Given the description of an element on the screen output the (x, y) to click on. 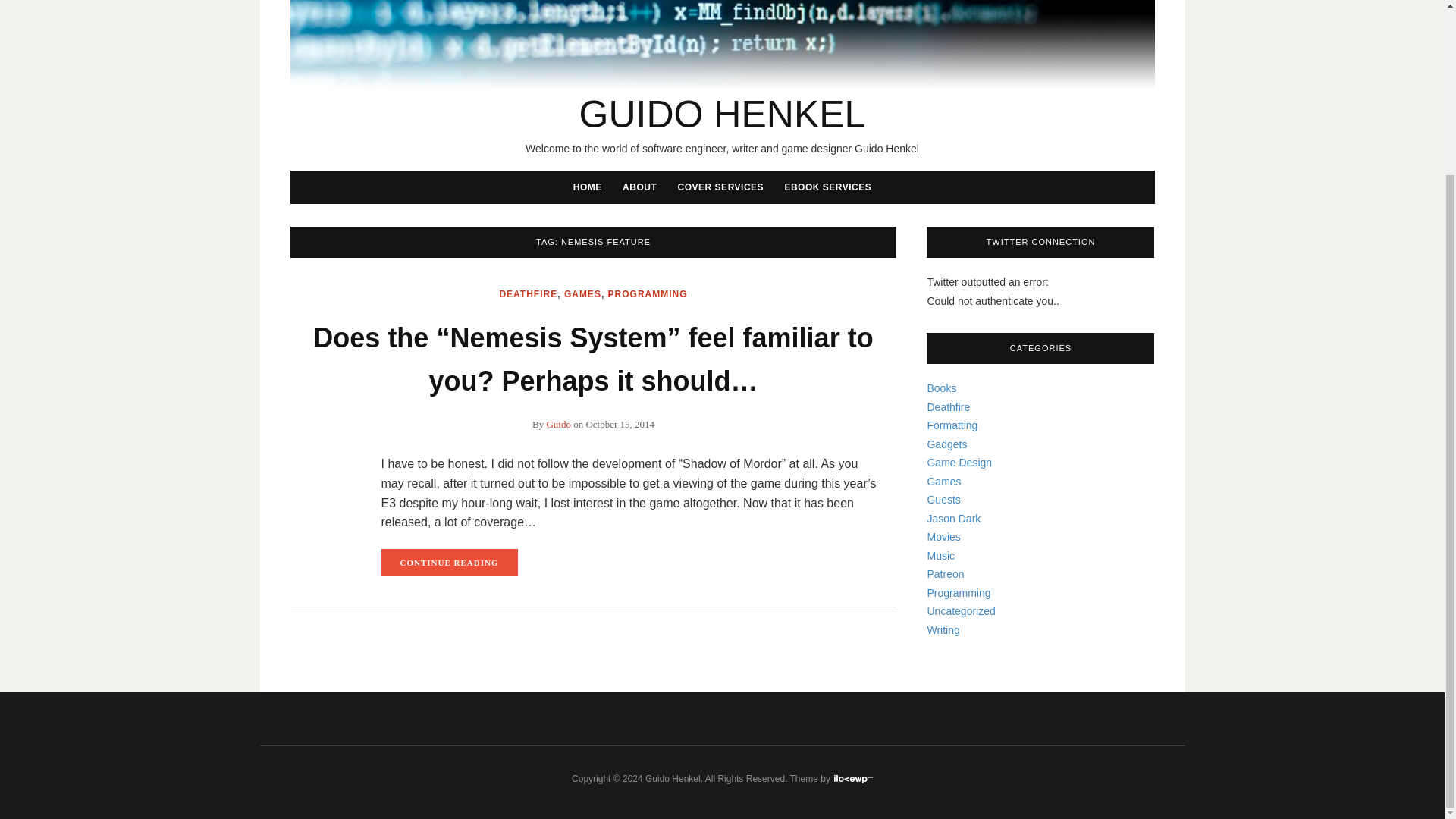
COVER SERVICES (721, 186)
Game Design (958, 462)
ABOUT (639, 186)
Music (940, 554)
DEATHFIRE (528, 294)
GAMES (582, 294)
Programming (958, 592)
Guests (942, 499)
GUIDO HENKEL (722, 114)
Games (943, 480)
